Given the description of an element on the screen output the (x, y) to click on. 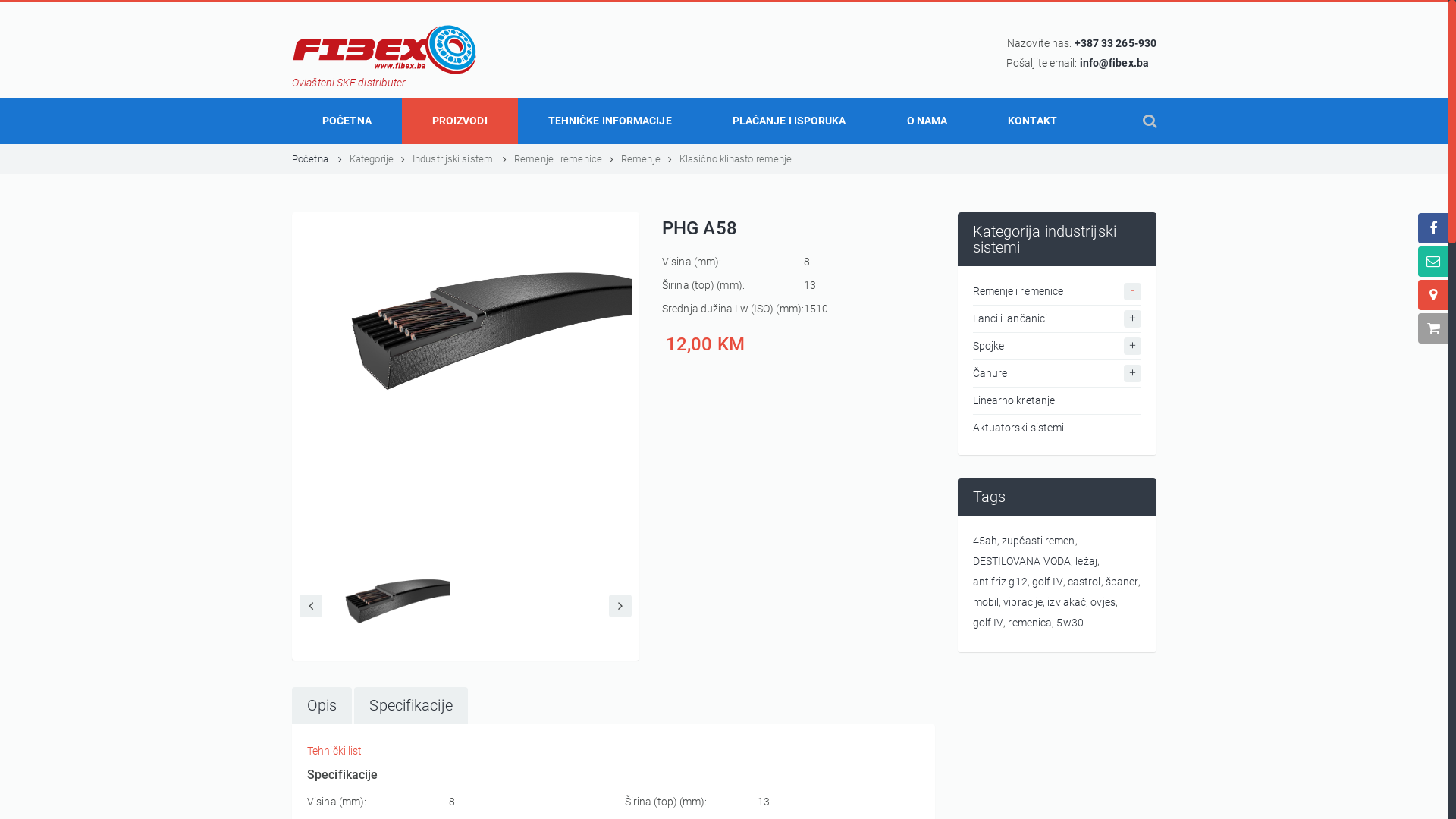
Specifikacije Element type: text (410, 705)
Industrijski sistemi Element type: text (453, 158)
PROIZVODI Element type: text (459, 120)
SKF Web Shop Element type: hover (1433, 328)
Kategorije Element type: text (371, 158)
Linearno kretanje Element type: text (1056, 400)
Remenje Element type: text (640, 158)
mobil Element type: text (985, 602)
antifriz g12 Element type: text (999, 581)
DESTILOVANA VODA Element type: text (1021, 561)
golf IV Element type: text (1047, 581)
Opis Element type: text (321, 705)
Remenje i remenice Element type: text (558, 158)
ovjes Element type: text (1102, 602)
O NAMA Element type: text (927, 120)
info@fibex.ba Element type: text (1113, 62)
KONTAKT Element type: text (1032, 120)
golf IV Element type: text (987, 622)
45ah Element type: text (984, 540)
Aktuatorski sistemi Element type: text (1056, 425)
5w30 Element type: text (1069, 622)
Remenje i remenice Element type: text (1056, 291)
castrol Element type: text (1084, 581)
remenica Element type: text (1029, 622)
vibracije Element type: text (1022, 602)
Spojke Element type: text (1056, 346)
